Given the description of an element on the screen output the (x, y) to click on. 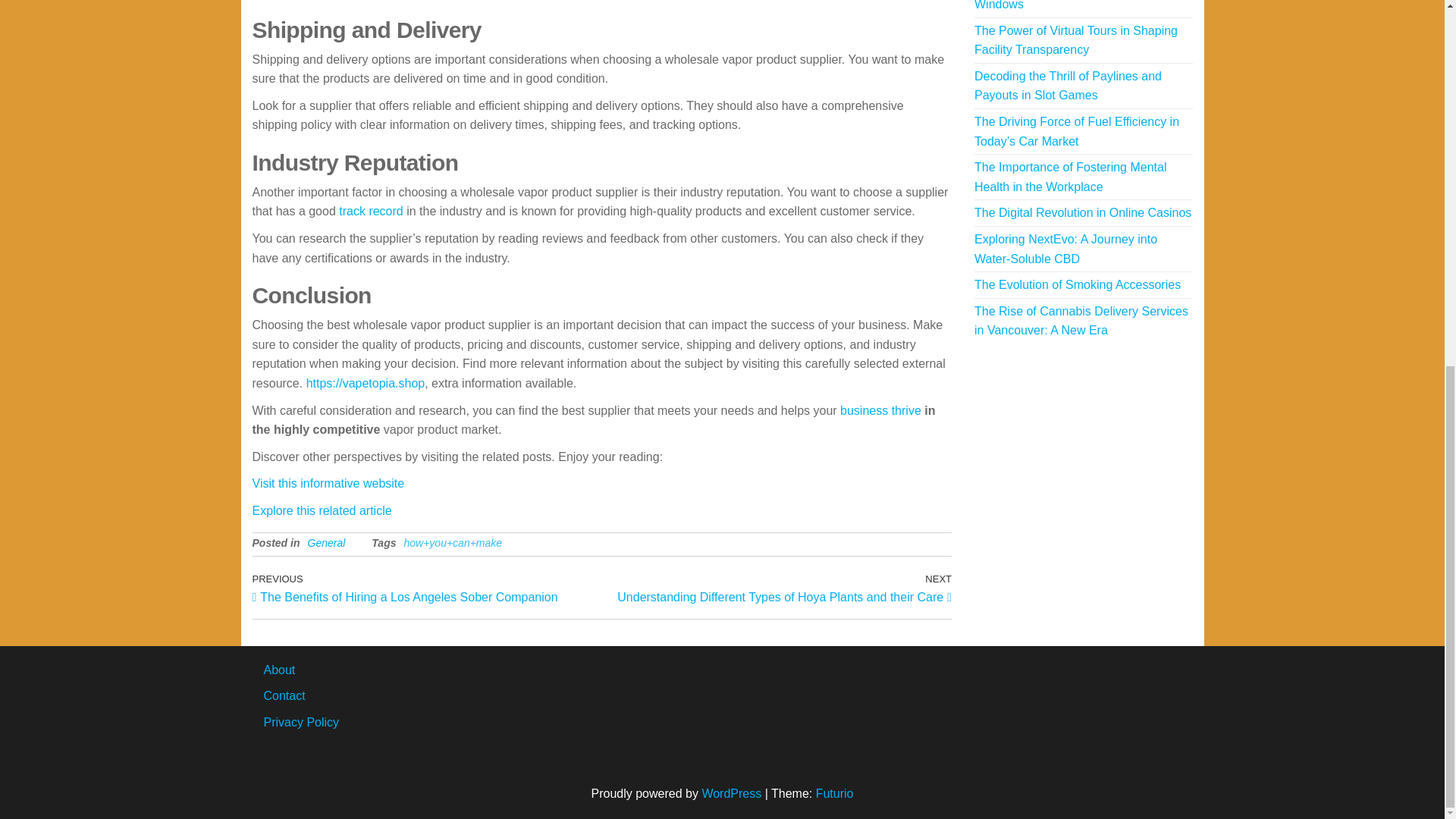
Embracing the Sun: The Beauty of Bay Windows (1078, 5)
The Evolution of Smoking Accessories (1077, 284)
Privacy Policy (301, 721)
Decoding the Thrill of Paylines and Payouts in Slot Games (1067, 85)
Futurio (834, 793)
Contact (284, 695)
About (279, 669)
The Power of Virtual Tours in Shaping Facility Transparency (1075, 40)
The Importance of Fostering Mental Health in the Workplace (1070, 176)
Visit this informative website (327, 482)
